Given the description of an element on the screen output the (x, y) to click on. 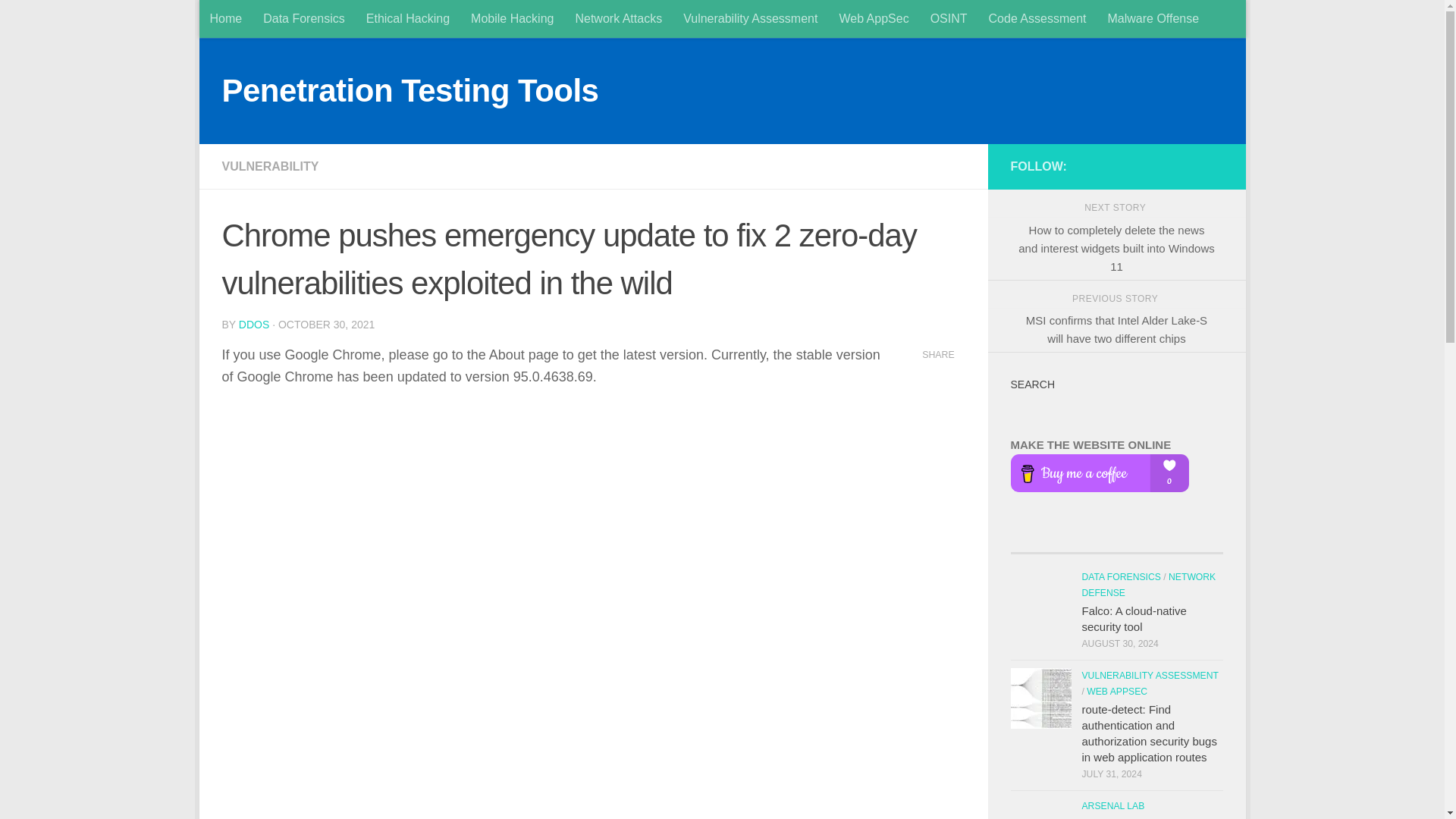
Ethical Hacking (407, 18)
Popular Posts (1063, 546)
Skip to content (263, 20)
Web AppSec (873, 18)
Home (224, 18)
Malware Offense (1152, 18)
Network Attacks (618, 18)
Mobile Hacking (512, 18)
OSINT (949, 18)
Vulnerability Assessment (750, 18)
